Given the description of an element on the screen output the (x, y) to click on. 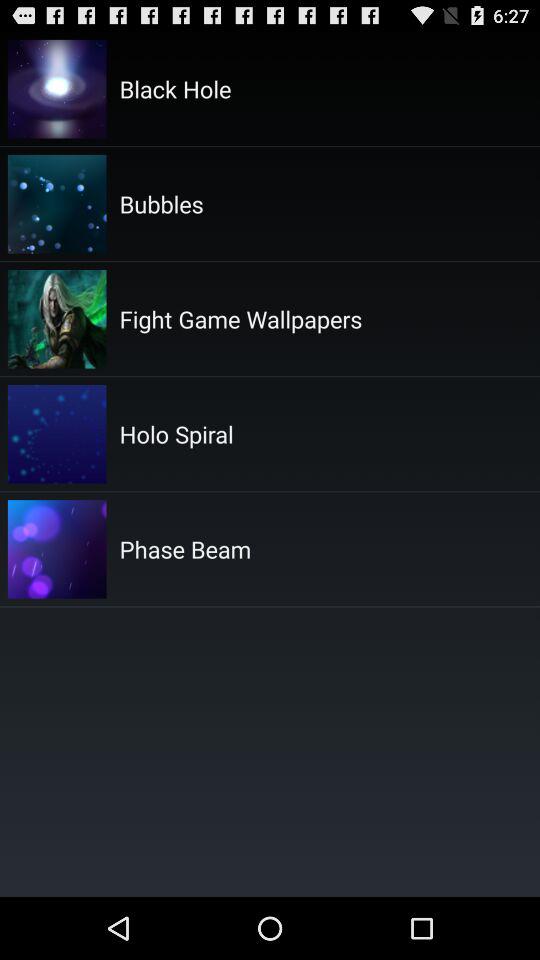
turn off app above fight game wallpapers app (161, 203)
